Given the description of an element on the screen output the (x, y) to click on. 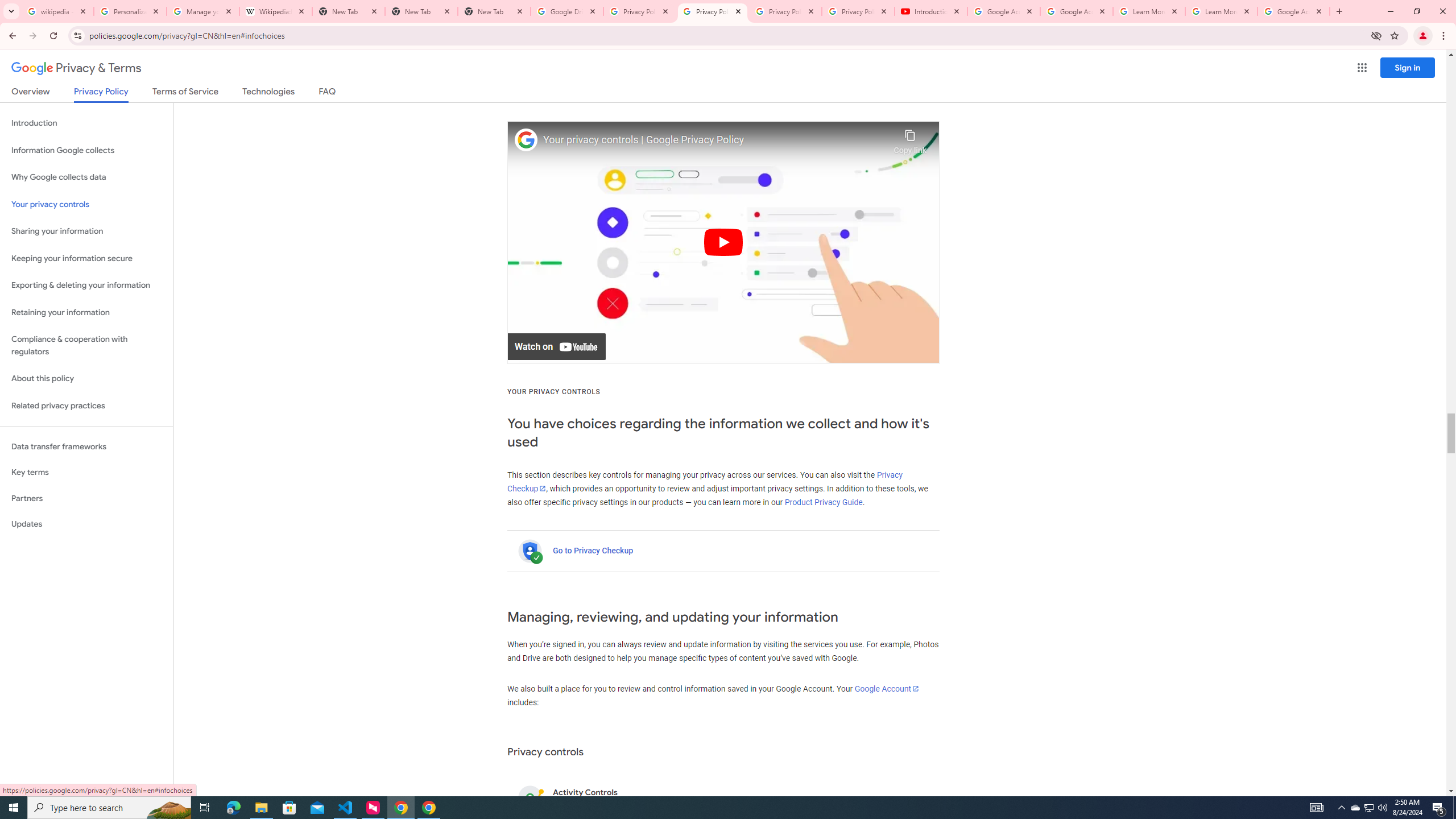
Watch on YouTube (556, 346)
New Tab (493, 11)
Privacy Policy (100, 94)
Google Account (1293, 11)
Terms of Service (184, 93)
Manage your Location History - Google Search Help (202, 11)
Google Account Help (1003, 11)
Keeping your information secure (86, 258)
About this policy (86, 379)
